Given the description of an element on the screen output the (x, y) to click on. 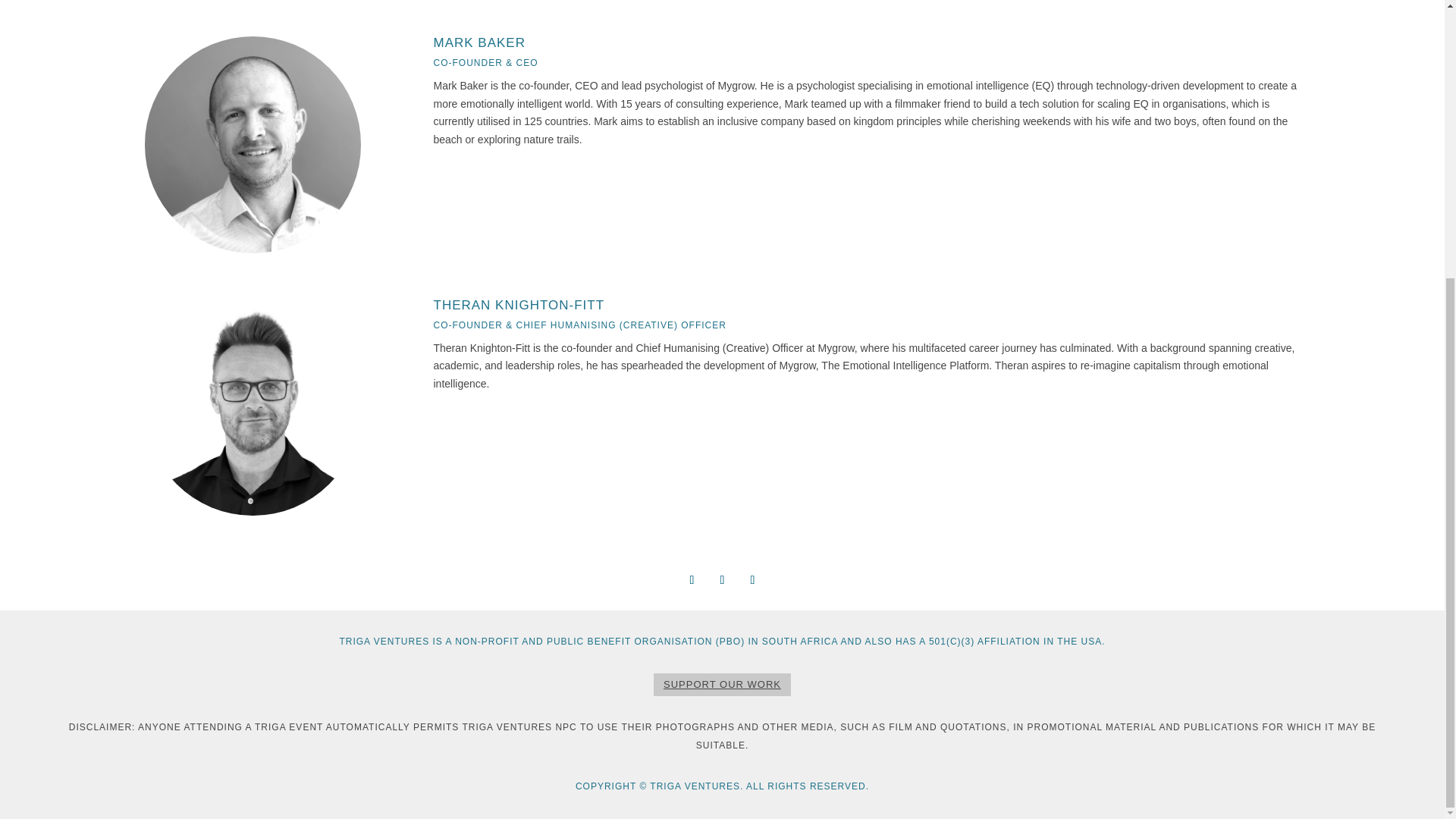
7 (250, 2)
Follow on Facebook (691, 579)
Follow on Instagram (721, 579)
tri.fellow.2024. Theran Knighton-Fitt (252, 406)
Follow on LinkedIn (751, 579)
